Given the description of an element on the screen output the (x, y) to click on. 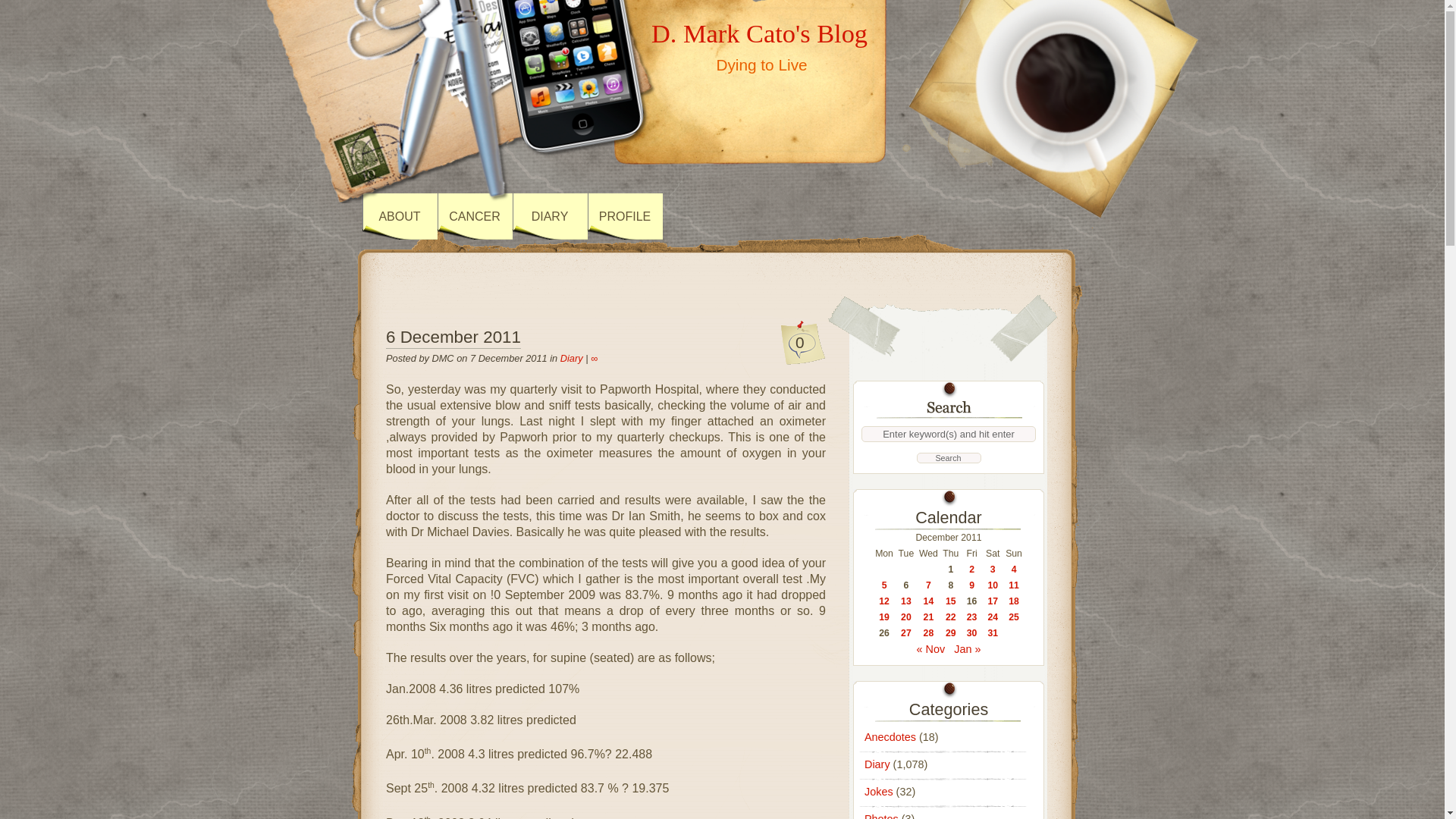
28 (928, 633)
12 (884, 601)
29 (950, 633)
Permanent Link to 6  December 2011 (453, 337)
25 (1014, 616)
D. Mark Cato's Blog (758, 32)
11 (1014, 584)
20 (906, 616)
Diary (571, 357)
18 (1014, 601)
19 (884, 616)
17 (992, 601)
21 (928, 616)
30 (971, 633)
23 (971, 616)
